Given the description of an element on the screen output the (x, y) to click on. 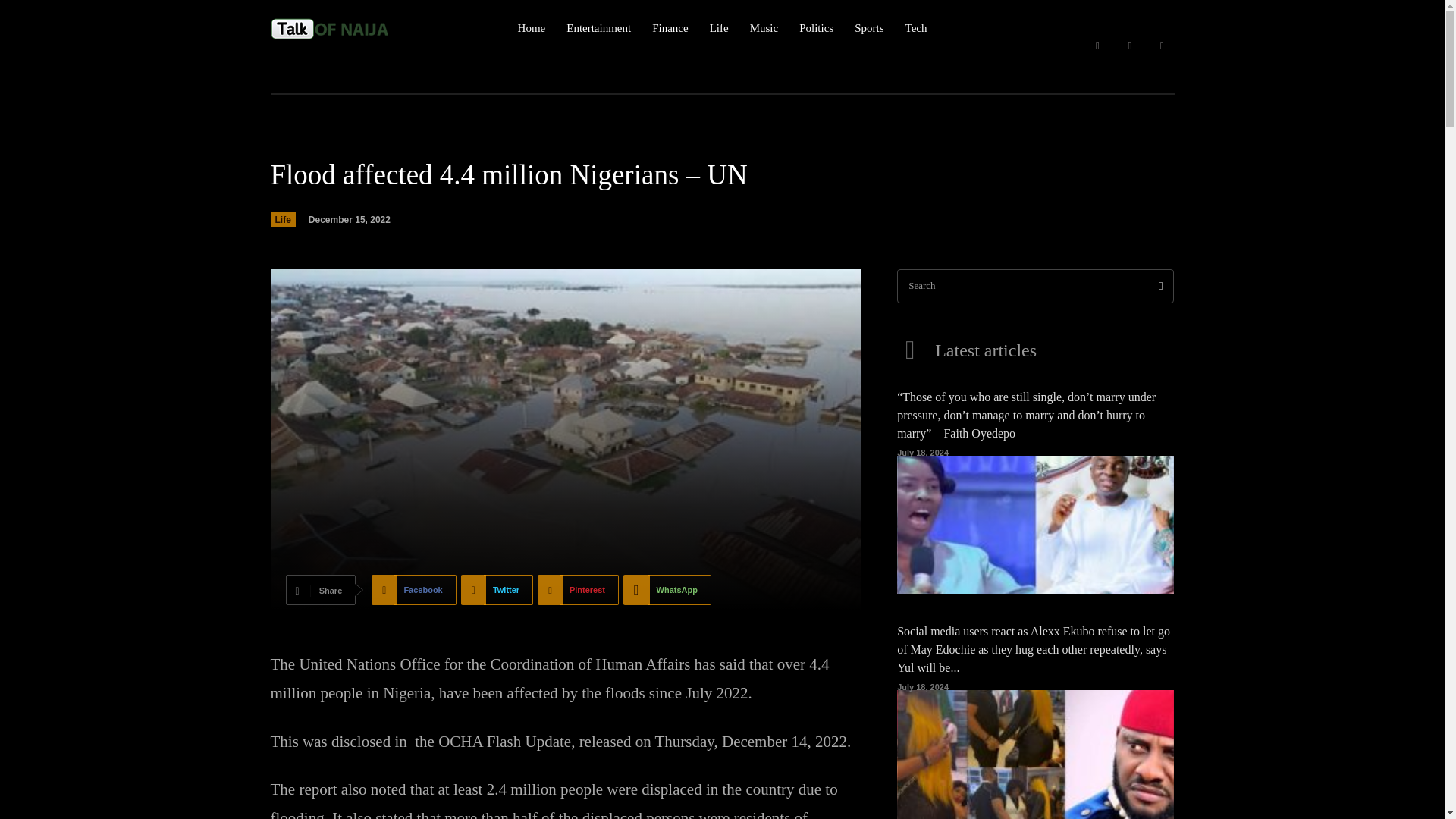
Facebook (413, 589)
Life (282, 219)
Instagram (1130, 46)
Twitter (1162, 46)
Pinterest (577, 589)
Pinterest (577, 589)
WhatsApp (667, 589)
Twitter (496, 589)
WhatsApp (667, 589)
Entertainment (598, 28)
Facebook (413, 589)
Facebook (1096, 46)
Twitter (496, 589)
